Given the description of an element on the screen output the (x, y) to click on. 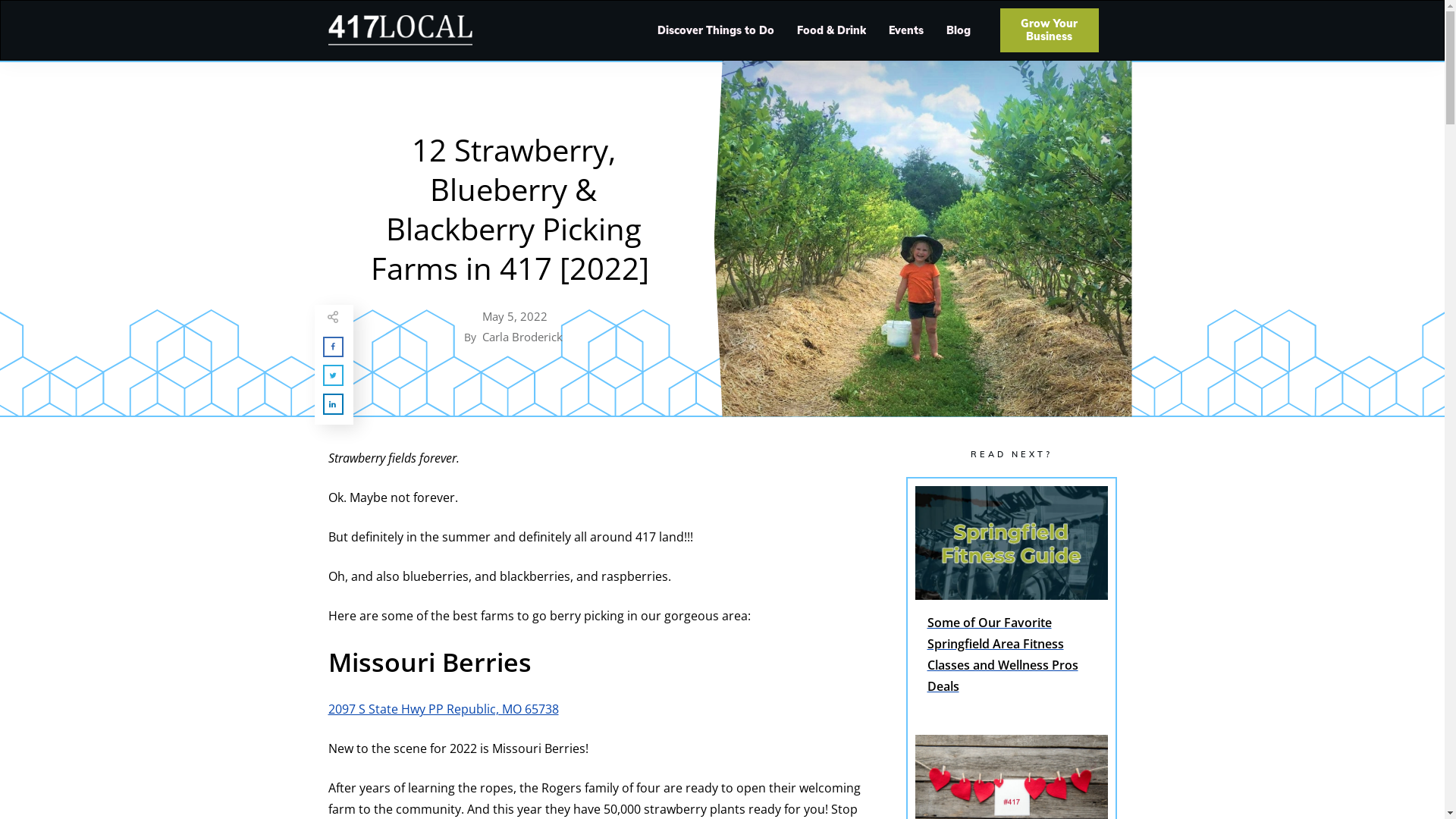
Discover Things to Do Element type: text (715, 29)
2097 S State Hwy PP Republic, MO 65738 Element type: text (442, 708)
Food & Drink Element type: text (831, 29)
Blog Element type: text (958, 29)
Grow Your Business Element type: text (1049, 30)
Events Element type: text (905, 29)
